Given the description of an element on the screen output the (x, y) to click on. 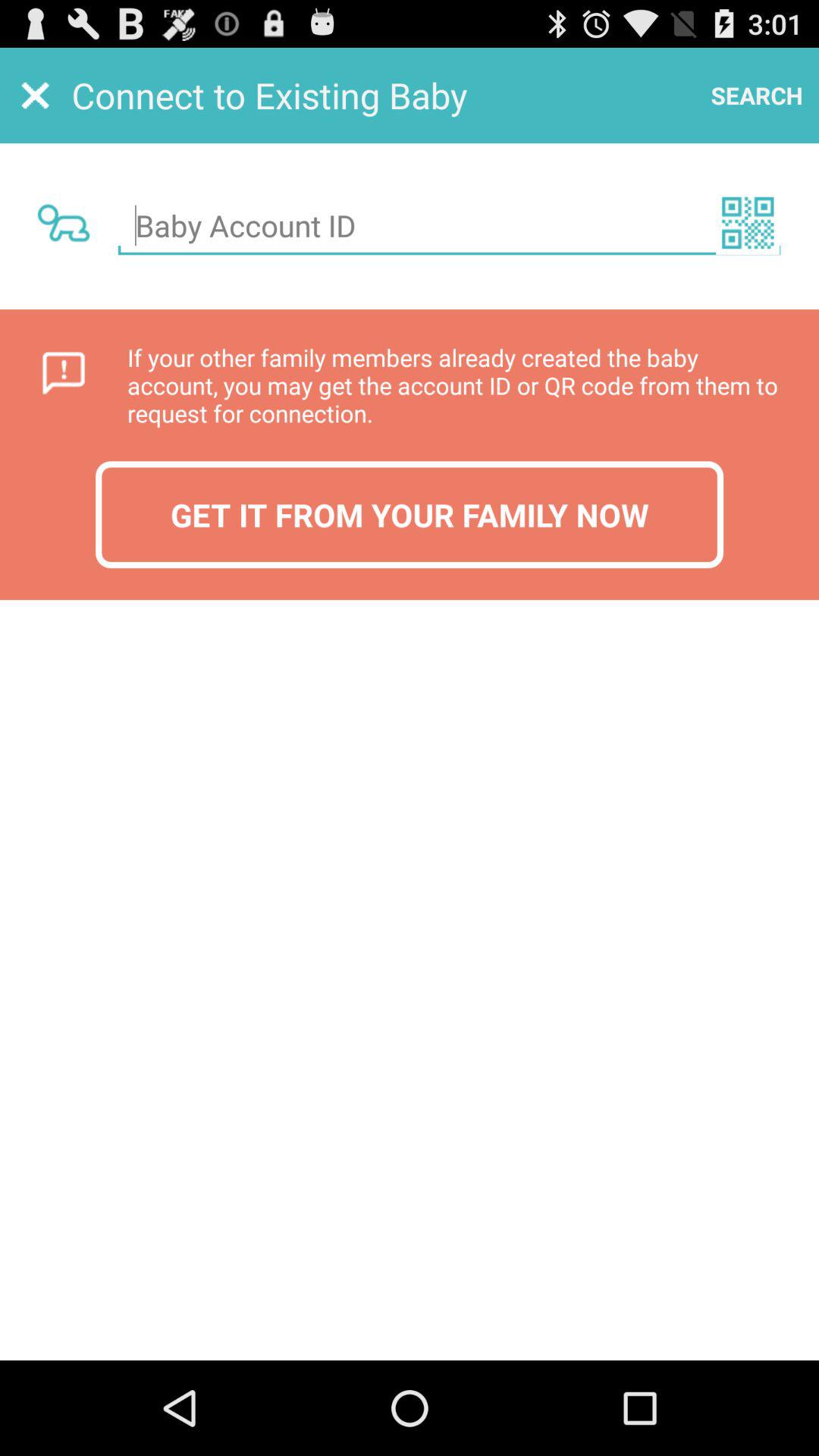
choose the item next to connect to existing app (757, 95)
